Given the description of an element on the screen output the (x, y) to click on. 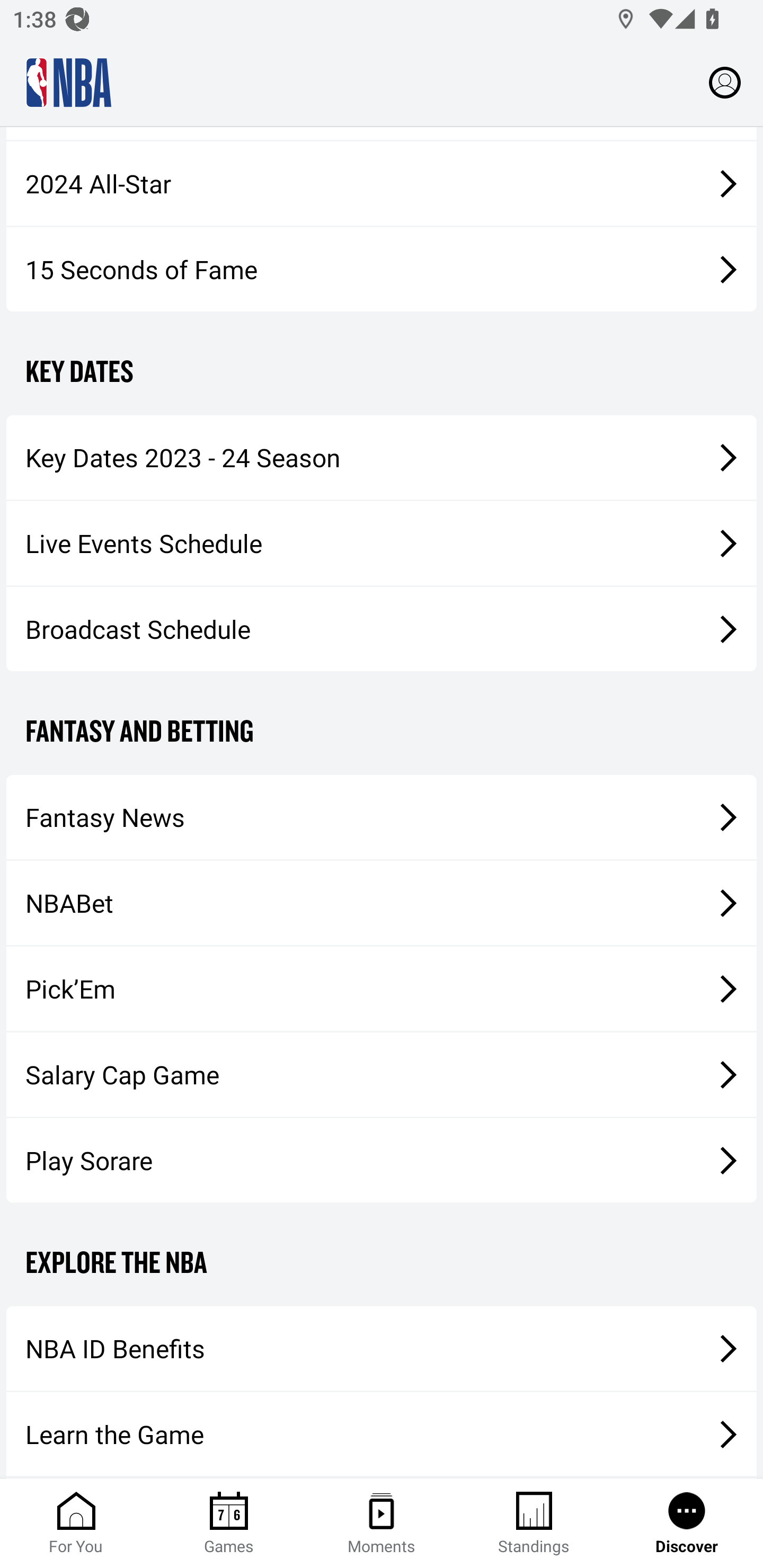
Profile (724, 81)
2024 All-Star (381, 183)
15 Seconds of Fame (381, 269)
Key Dates 2023 - 24 Season (381, 457)
Live Events Schedule (381, 542)
Broadcast Schedule (381, 628)
Fantasy News (381, 816)
NBABet (381, 902)
Pick’Em (381, 988)
Salary Cap Game (381, 1073)
Play Sorare (381, 1159)
NBA ID Benefits (381, 1348)
Learn the Game (381, 1434)
For You (76, 1523)
Games (228, 1523)
Moments (381, 1523)
Standings (533, 1523)
